Given the description of an element on the screen output the (x, y) to click on. 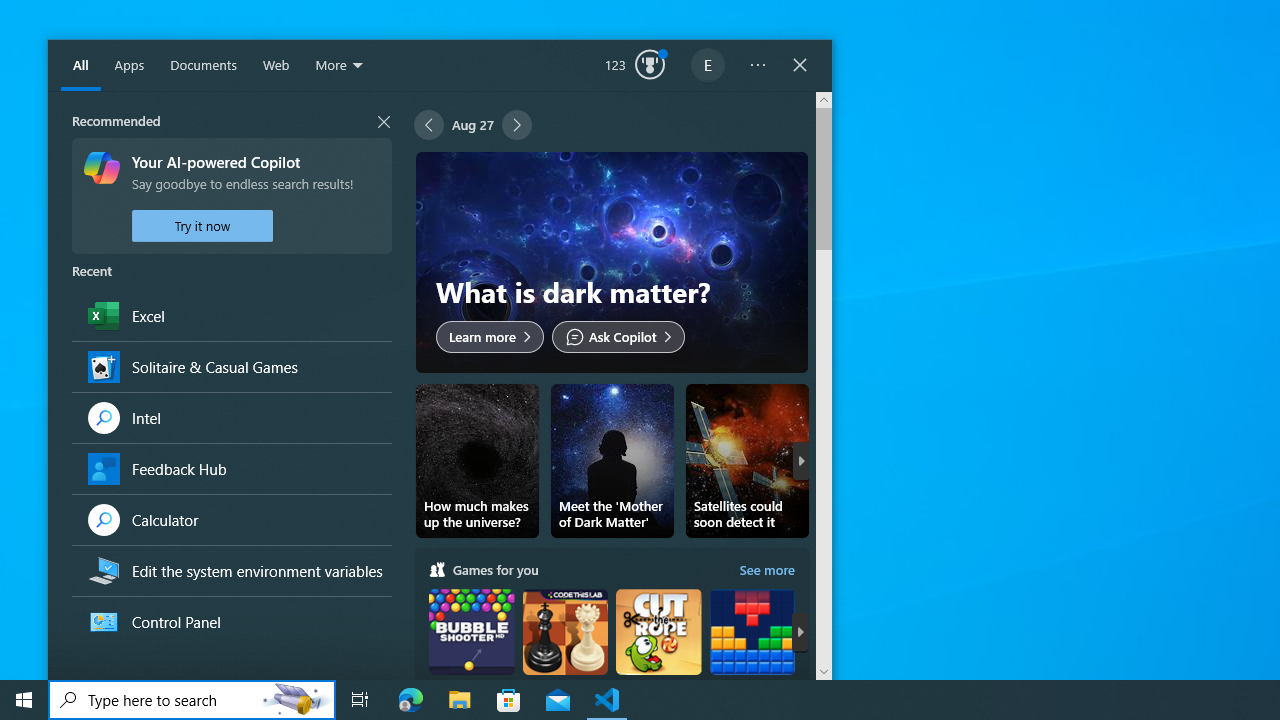
Calculator, See more search results (231, 519)
Dismiss Recommended (231, 120)
Bubble Shooter HD (471, 650)
What is dark matter? (611, 261)
Ask Copilot (617, 336)
BlockBuster: Adventures Puzzle (752, 650)
Learn more (490, 336)
Cut the Rope (658, 650)
See more (766, 569)
All (81, 65)
Feedback Hub, App (231, 467)
Try it now (201, 225)
Options (758, 65)
